Given the description of an element on the screen output the (x, y) to click on. 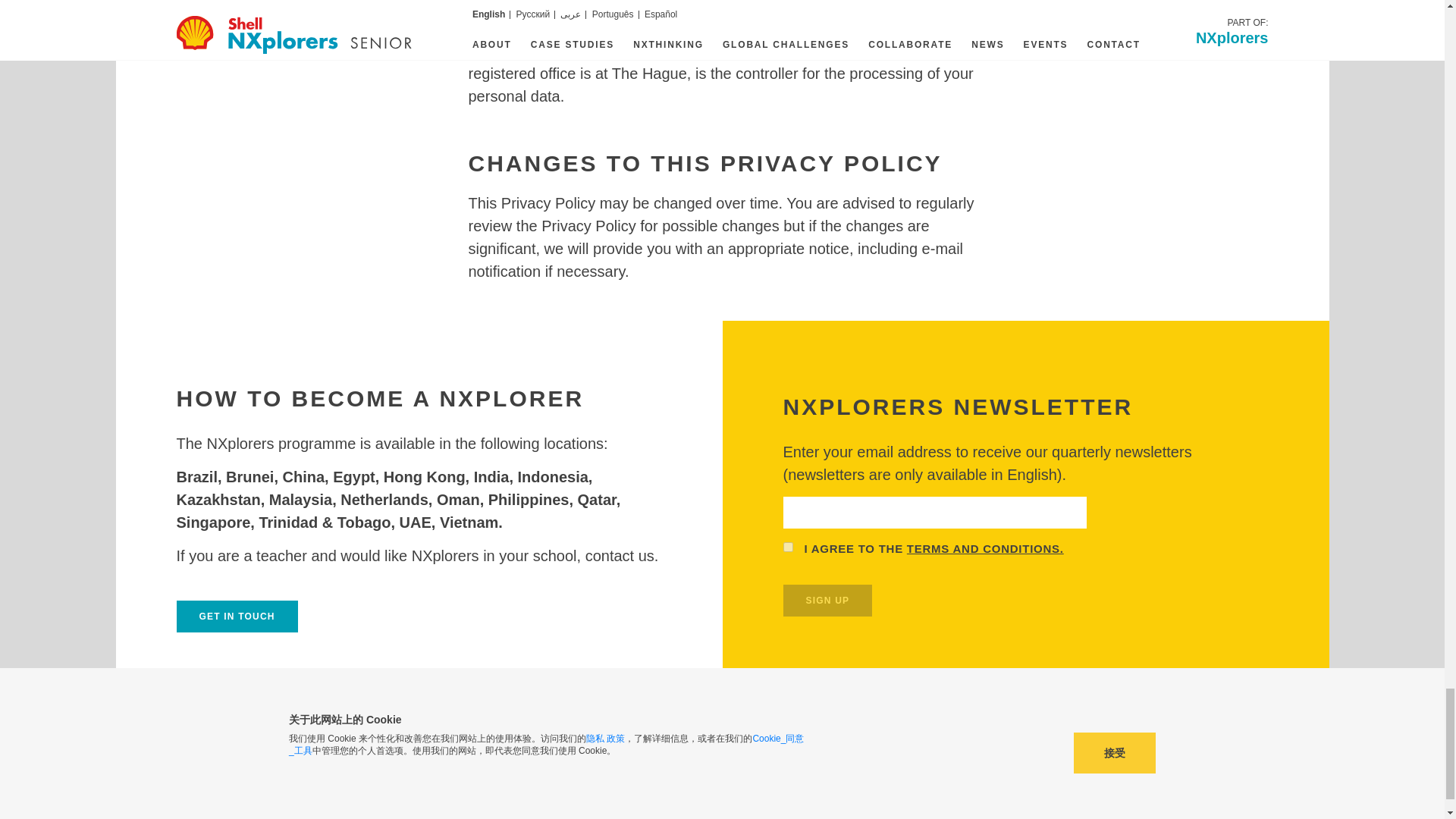
GET IN TOUCH (236, 616)
on (787, 547)
SIGN UP (827, 600)
TERMS AND CONDITIONS. (985, 548)
